Given the description of an element on the screen output the (x, y) to click on. 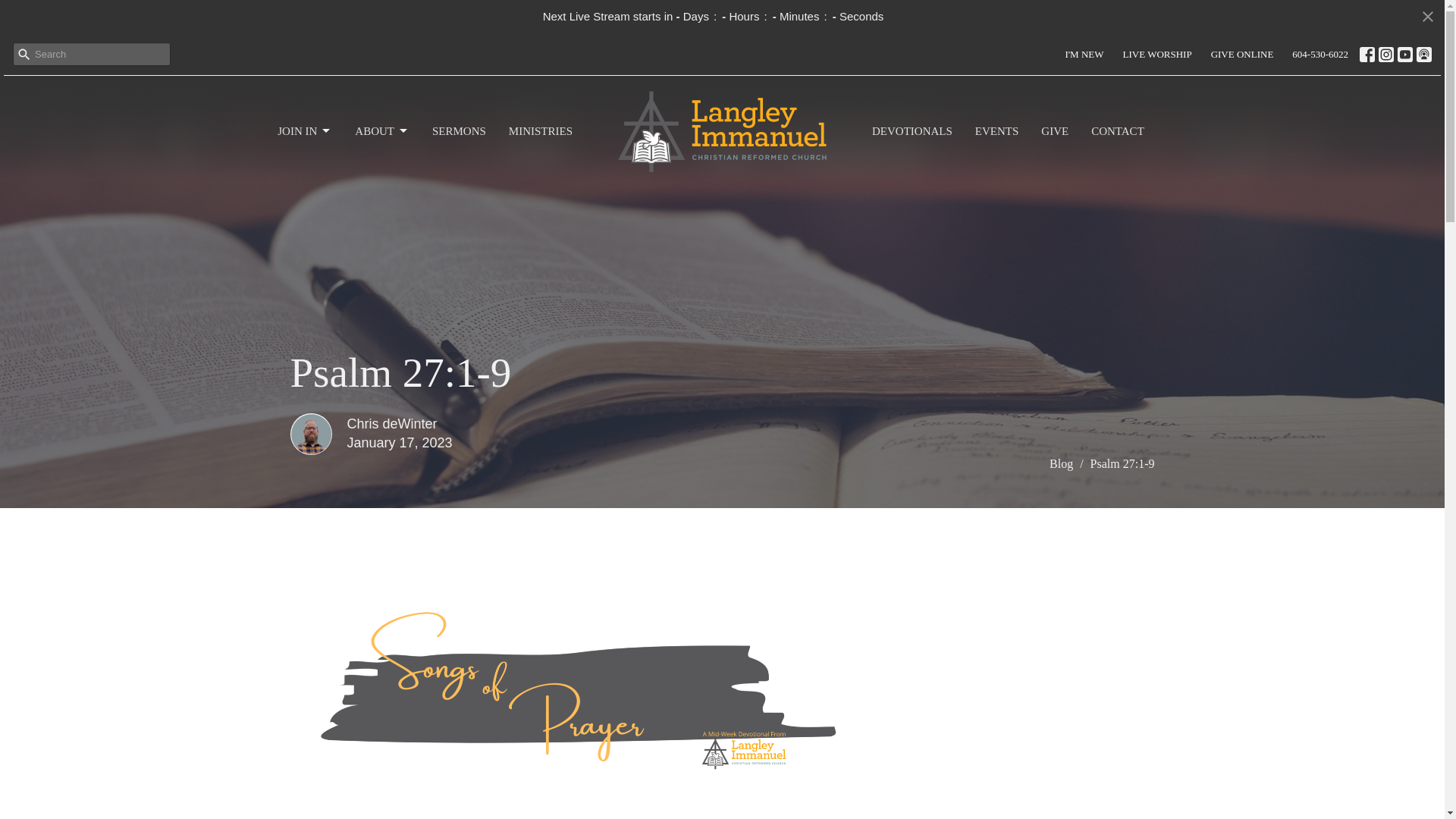
EVENTS (997, 131)
GIVE (1054, 131)
SERMONS (459, 131)
LIVE WORSHIP (1157, 54)
GIVE ONLINE (1242, 54)
604-530-6022 (1319, 54)
MINISTRIES (540, 131)
I'M NEW (1083, 54)
Blog (1061, 463)
JOIN IN (304, 131)
